Given the description of an element on the screen output the (x, y) to click on. 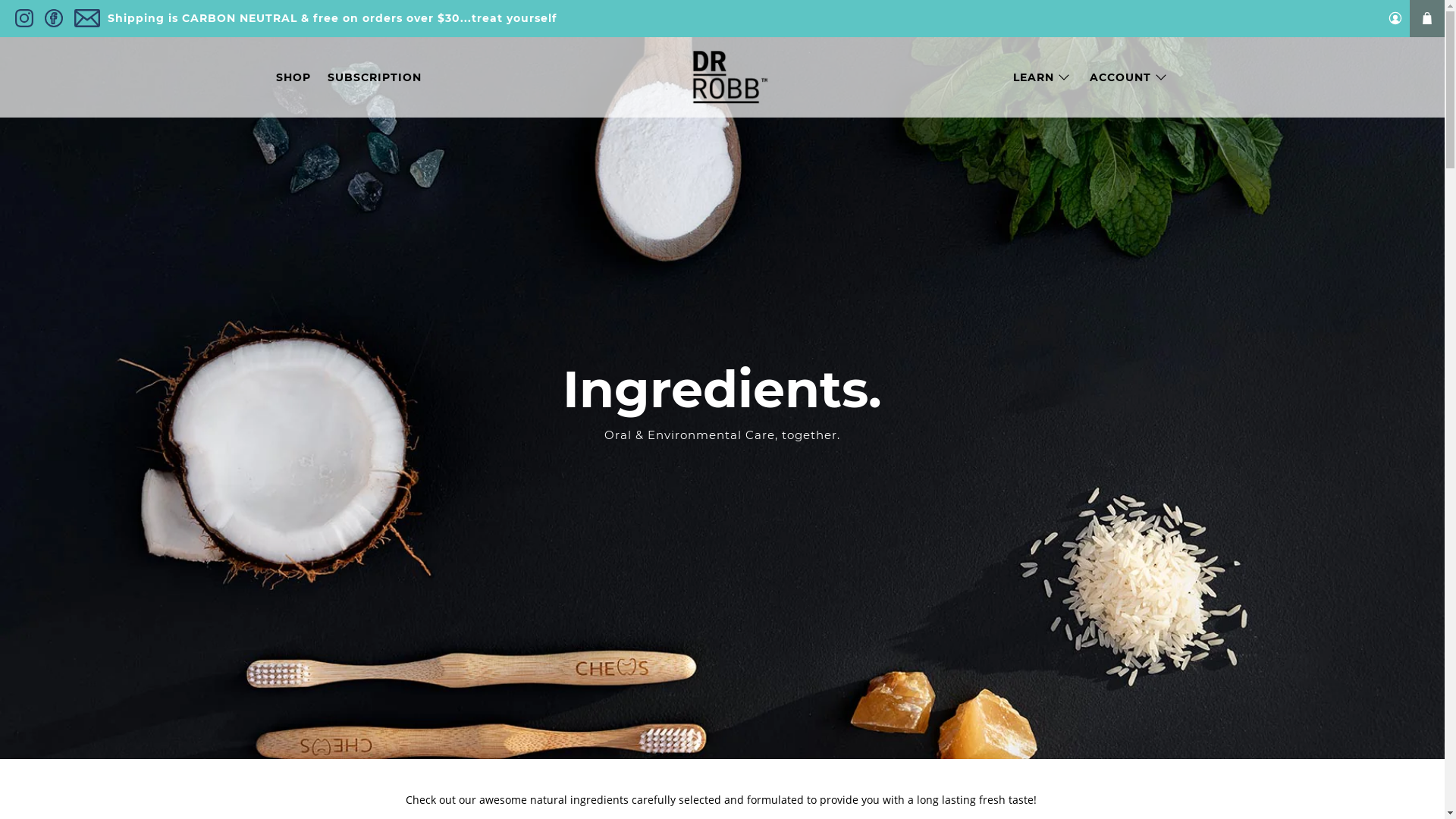
Dr Robb Element type: hover (722, 77)
Email Dr Robb Element type: hover (87, 18)
SHOP Element type: text (292, 77)
SUBSCRIPTION Element type: text (374, 77)
ACCOUNT Element type: text (1128, 77)
Dr Robb on Facebook Element type: hover (53, 18)
Dr Robb on Instagram Element type: hover (24, 18)
LEARN Element type: text (1042, 77)
